Given the description of an element on the screen output the (x, y) to click on. 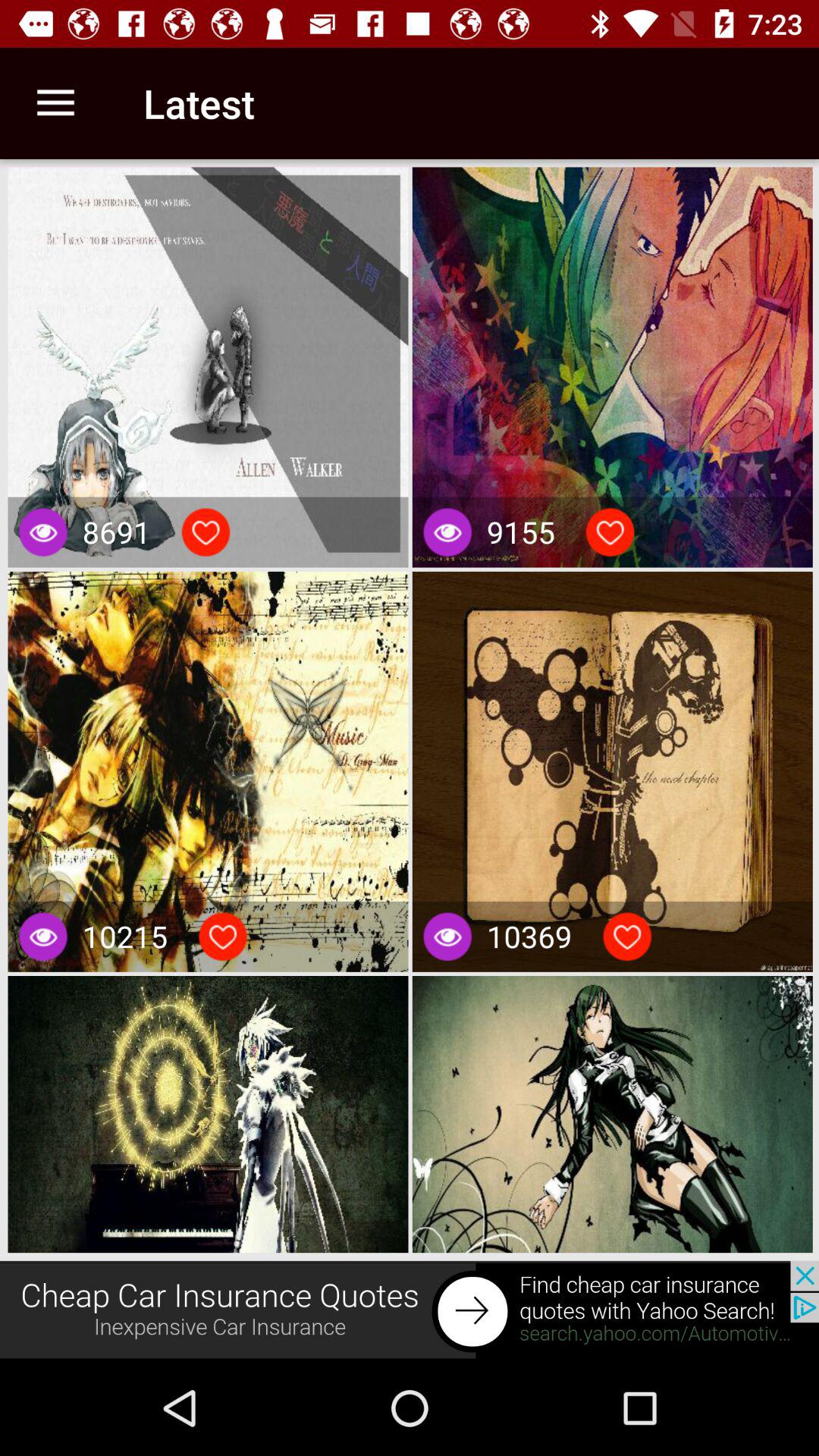
open advertisement (409, 1310)
